Given the description of an element on the screen output the (x, y) to click on. 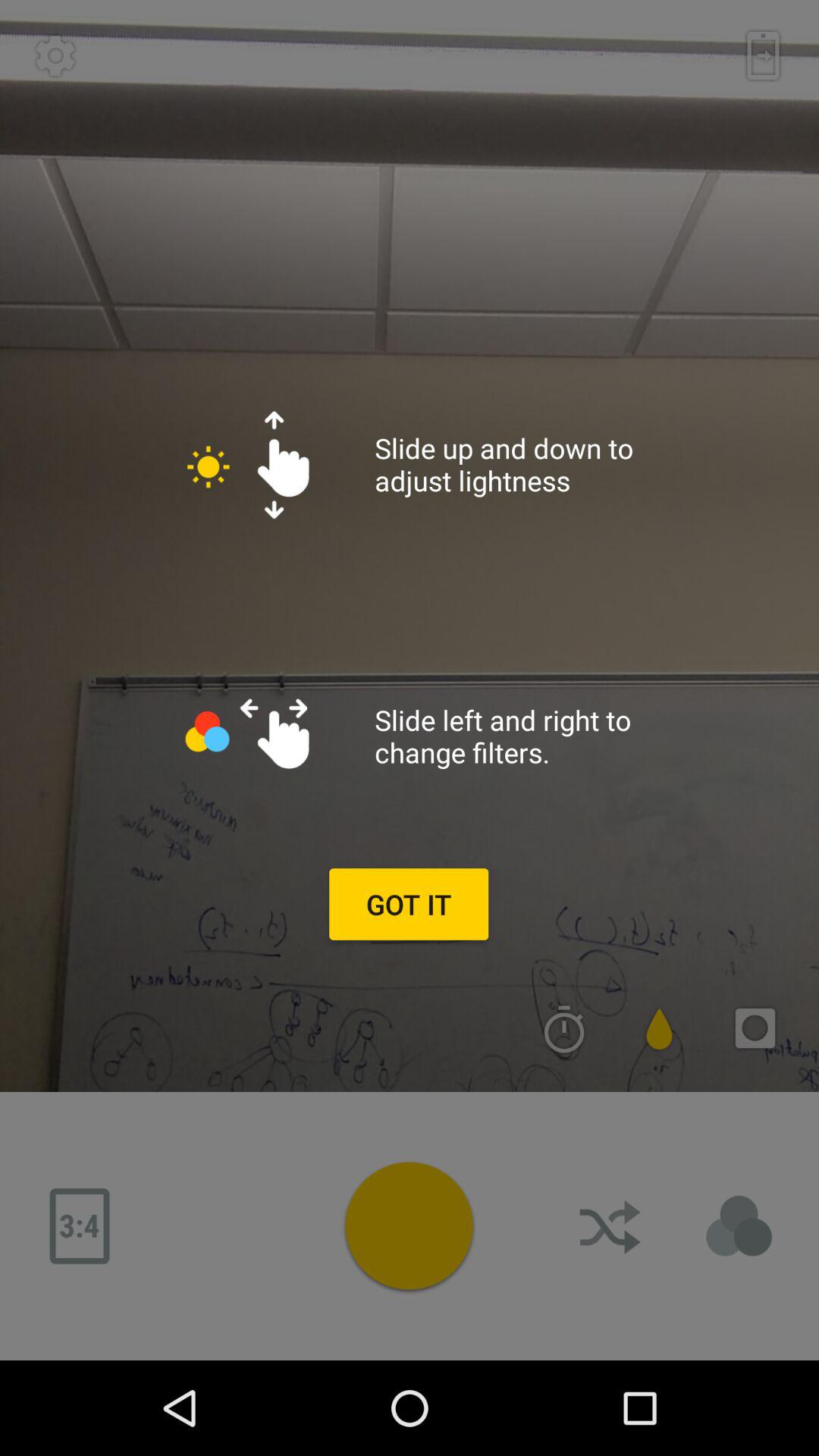
options (408, 1225)
